Given the description of an element on the screen output the (x, y) to click on. 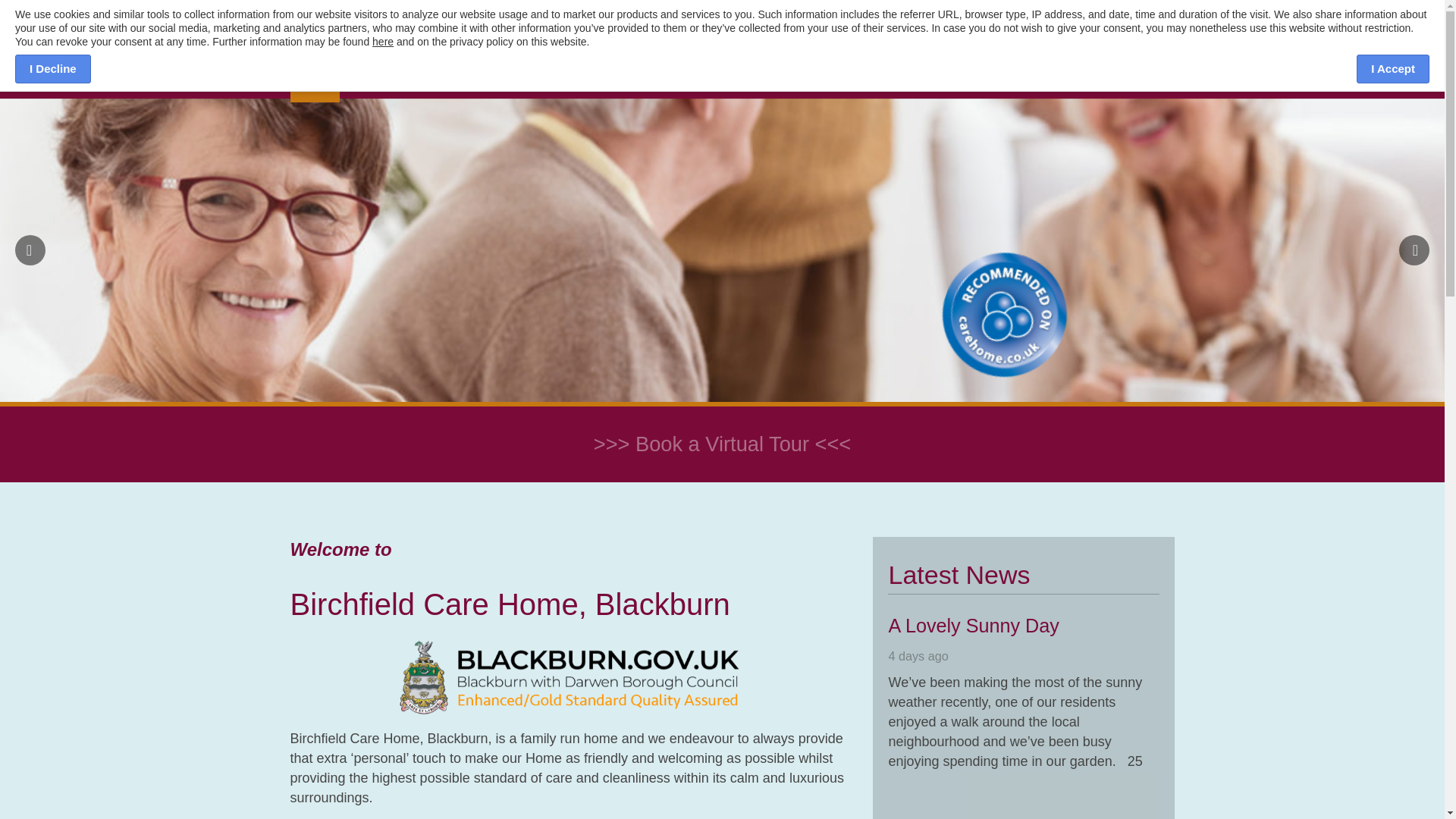
Contact Us (832, 83)
News and Activities (628, 83)
Gallery (542, 83)
Care (361, 83)
A Lovely Sunny Day (973, 625)
Work at Birchfield (740, 83)
here (382, 41)
Home (314, 83)
A Trip into Town (1226, 625)
Testimonials (474, 83)
I Decline (52, 68)
I Accept (1392, 68)
Dining (407, 83)
